Given the description of an element on the screen output the (x, y) to click on. 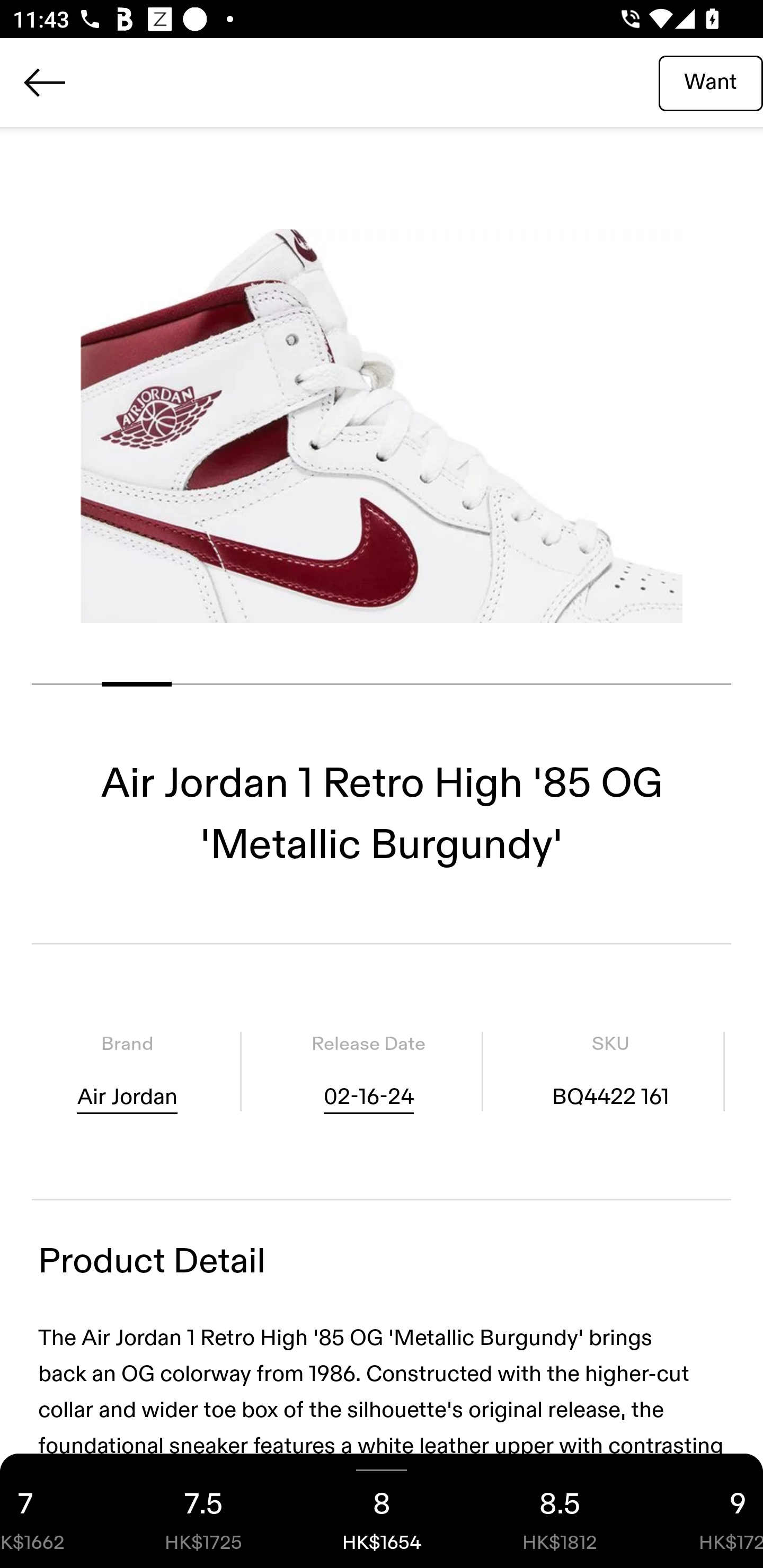
Want (710, 82)
Brand Air Jordan (126, 1070)
Release Date 02-16-24 (368, 1070)
SKU BQ4422 161 (609, 1070)
7 HK$1662 (57, 1510)
7.5 HK$1725 (203, 1510)
8 HK$1654 (381, 1510)
8.5 HK$1812 (559, 1510)
9 HK$1725 (705, 1510)
